Given the description of an element on the screen output the (x, y) to click on. 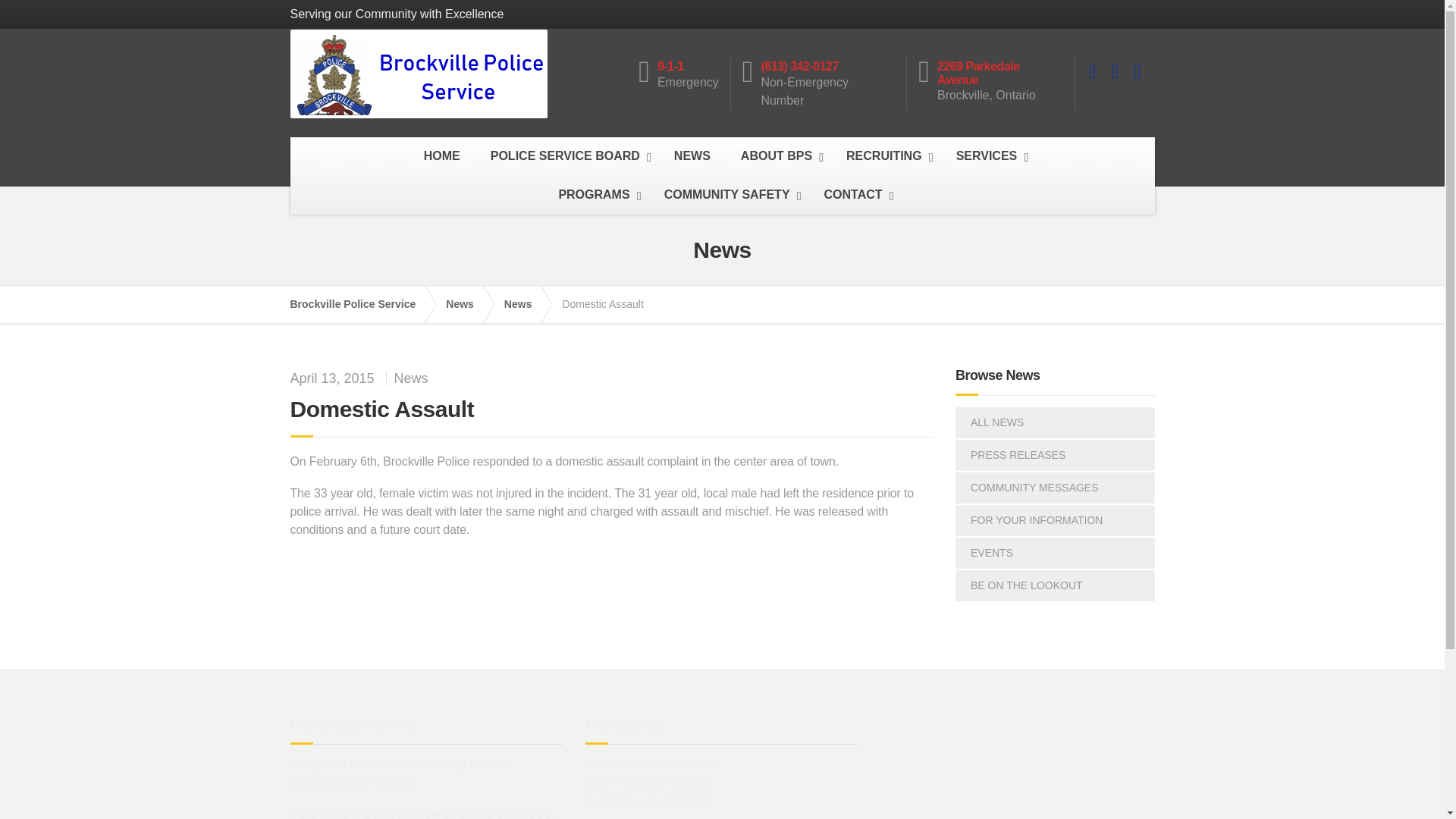
fa-twitter (1114, 70)
About BPS (778, 156)
NEWS (692, 156)
RECRUITING (885, 156)
fa-instagram (1136, 70)
Contact (855, 195)
fa-facebook (1092, 70)
SERVICES (988, 156)
POLICE SERVICE BOARD (567, 156)
Recruiting (885, 156)
